Given the description of an element on the screen output the (x, y) to click on. 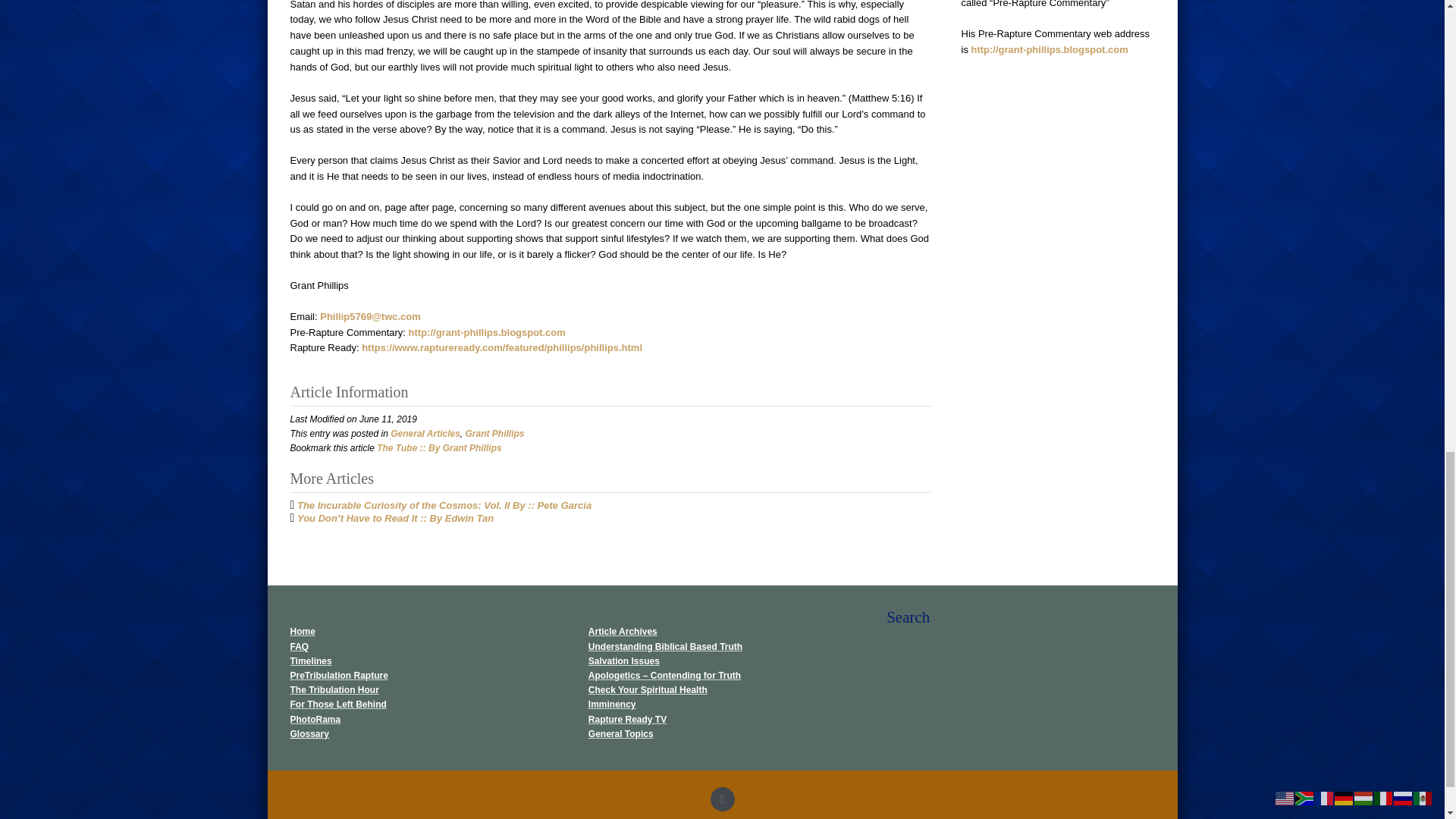
PhotoRama (314, 719)
Rapture Ready TV (627, 719)
Home (301, 631)
Grant Phillips (494, 433)
Glossary (309, 733)
PreTribulation Rapture (338, 675)
FAQ (298, 646)
Understanding Biblical Based Truth (665, 646)
For Those Left Behind (337, 704)
Facebook (721, 799)
Article Archives (623, 631)
General Topics (620, 733)
Check Your Spiritual Health (647, 689)
The Tribulation Hour (333, 689)
